Given the description of an element on the screen output the (x, y) to click on. 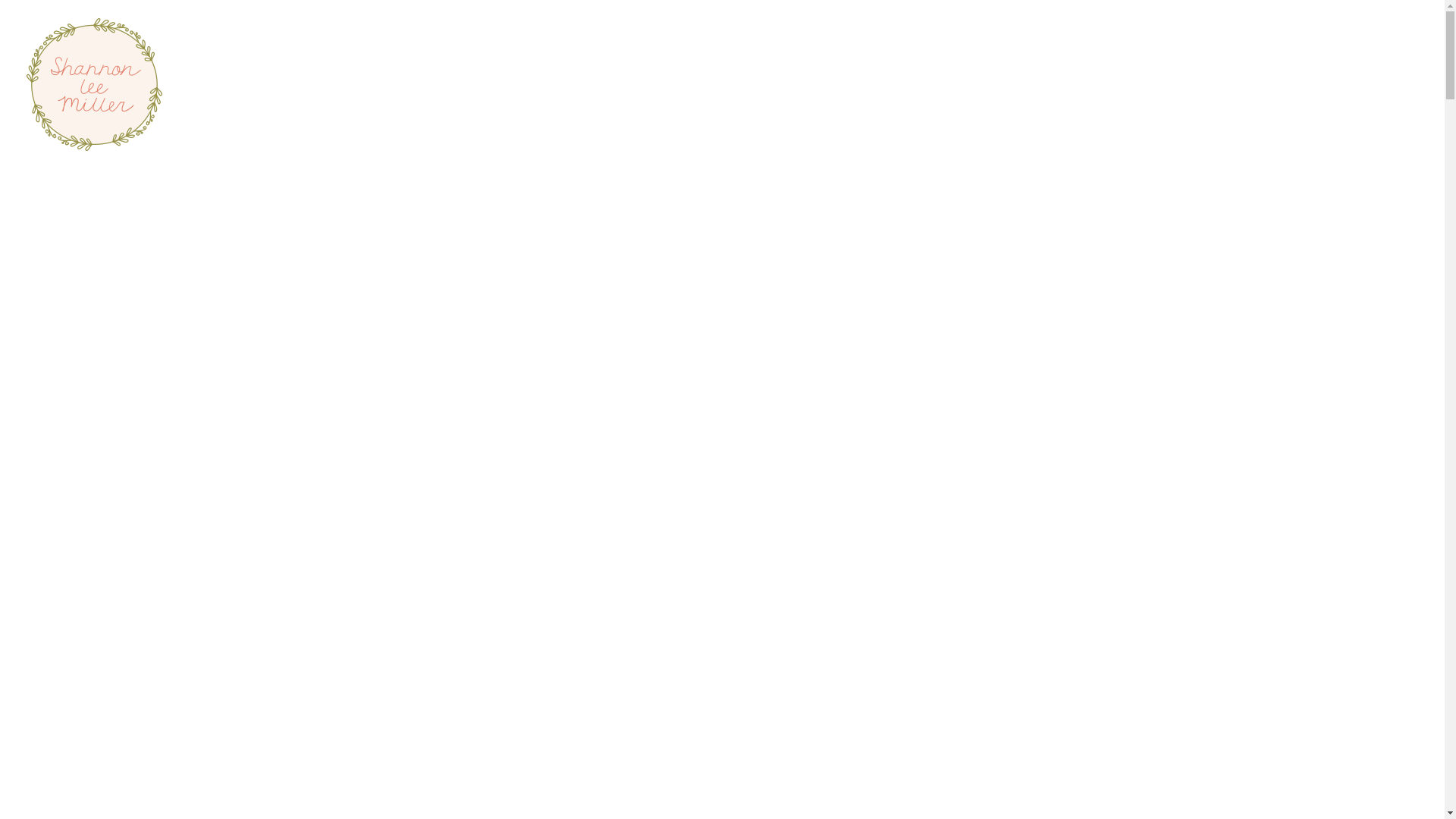
HELLO! Element type: text (100, 299)
PORTRAITS Element type: text (100, 184)
COLLECTIONS Element type: text (100, 270)
WEDDINGS Element type: text (100, 241)
ENGAGEMENTS Element type: text (100, 212)
